Given the description of an element on the screen output the (x, y) to click on. 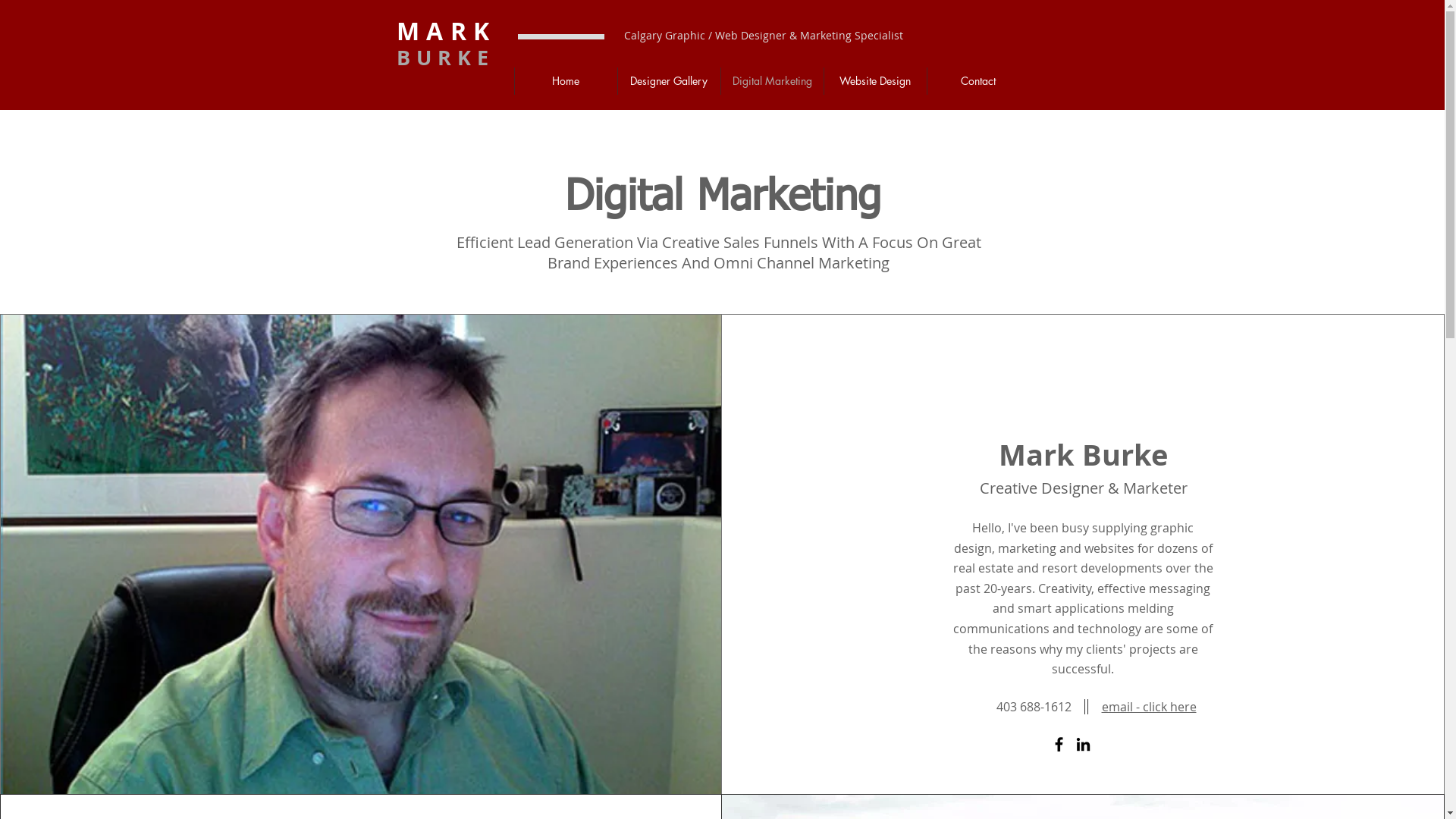
Designer Gallery Element type: text (668, 80)
Contact Element type: text (977, 80)
Digital Marketing Element type: text (771, 80)
email - click here Element type: text (1148, 704)
MARK
BURKE Element type: text (445, 45)
Website Design Element type: text (874, 80)
Home Element type: text (565, 80)
Calgary Graphic / Web Designer & Marketing Specialist Element type: text (762, 35)
